Given the description of an element on the screen output the (x, y) to click on. 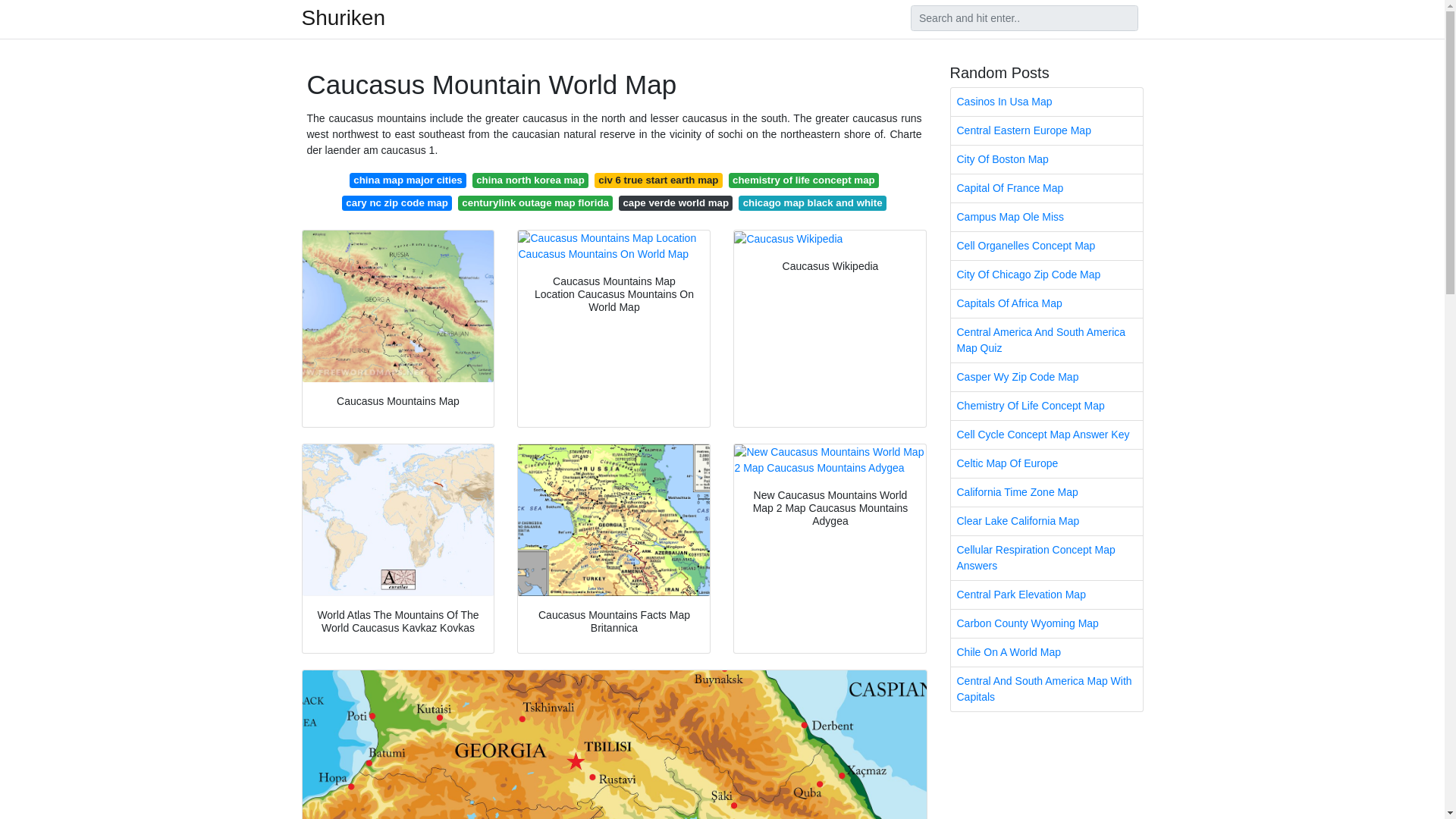
City Of Boston Map (1046, 159)
chemistry of life concept map (804, 180)
Central America And South America Map Quiz (1046, 340)
Capital Of France Map (1046, 188)
Capitals Of Africa Map (1046, 303)
centurylink outage map florida (535, 202)
china map major cities (407, 180)
chicago map black and white (812, 202)
cary nc zip code map (396, 202)
Central Eastern Europe Map (1046, 130)
